Given the description of an element on the screen output the (x, y) to click on. 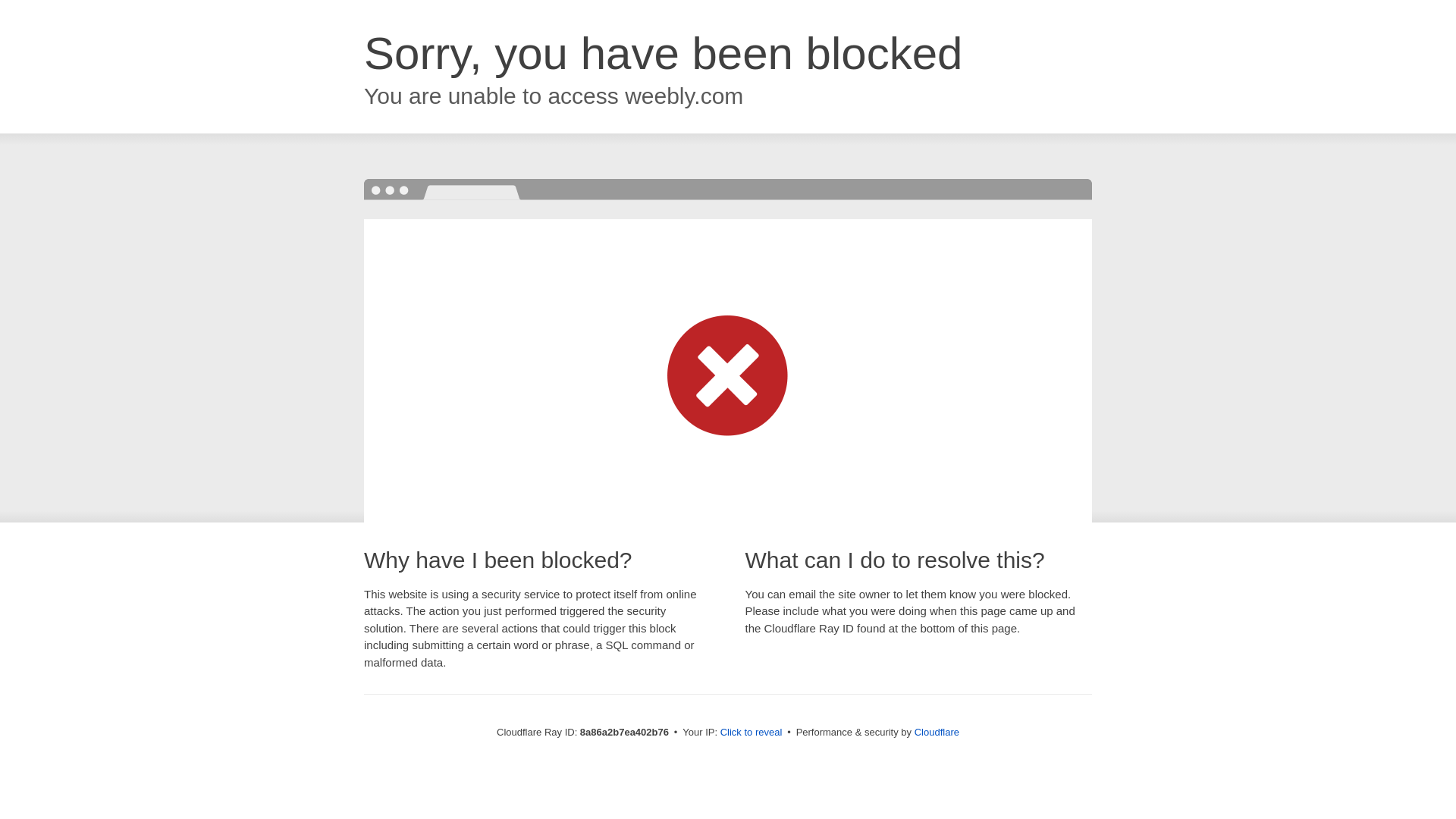
Cloudflare (936, 731)
Click to reveal (751, 732)
